Given the description of an element on the screen output the (x, y) to click on. 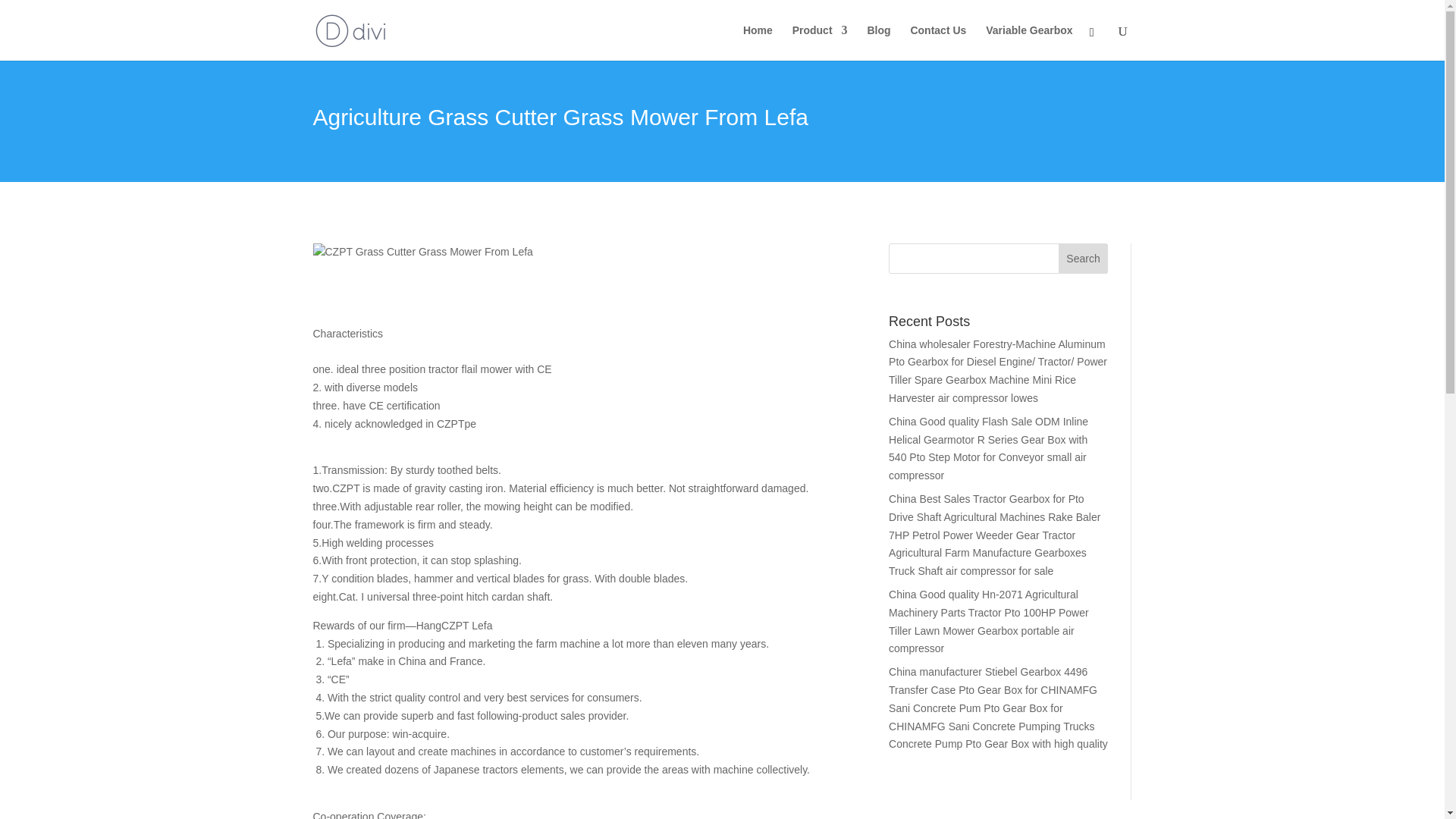
Contact Us (938, 42)
Search (1083, 258)
CZPT Grass Cutter Grass Mower From Lefa (422, 252)
Search (1083, 258)
Product (819, 42)
Variable Gearbox (1028, 42)
